Given the description of an element on the screen output the (x, y) to click on. 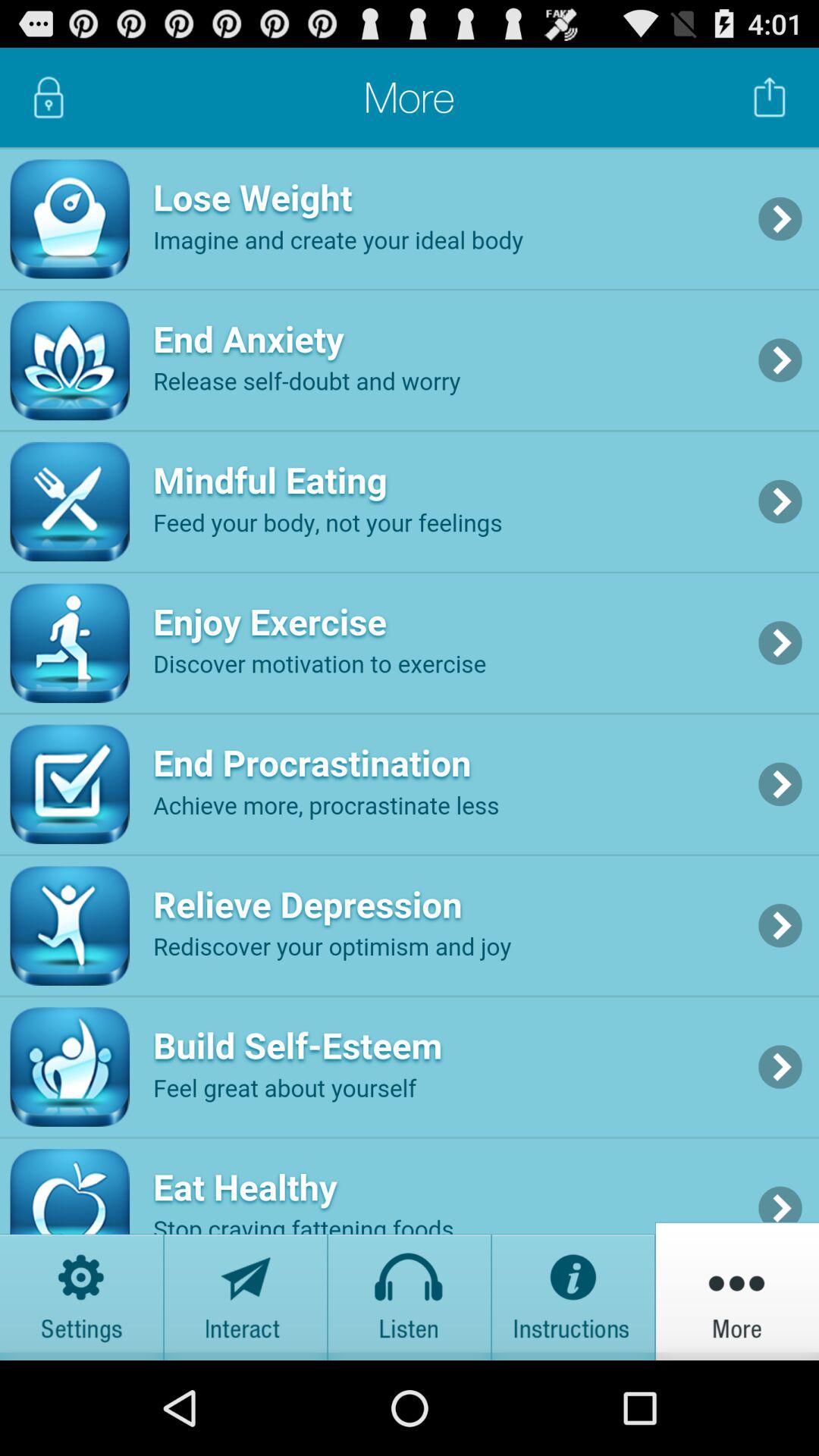
go to interact (245, 1290)
